Given the description of an element on the screen output the (x, y) to click on. 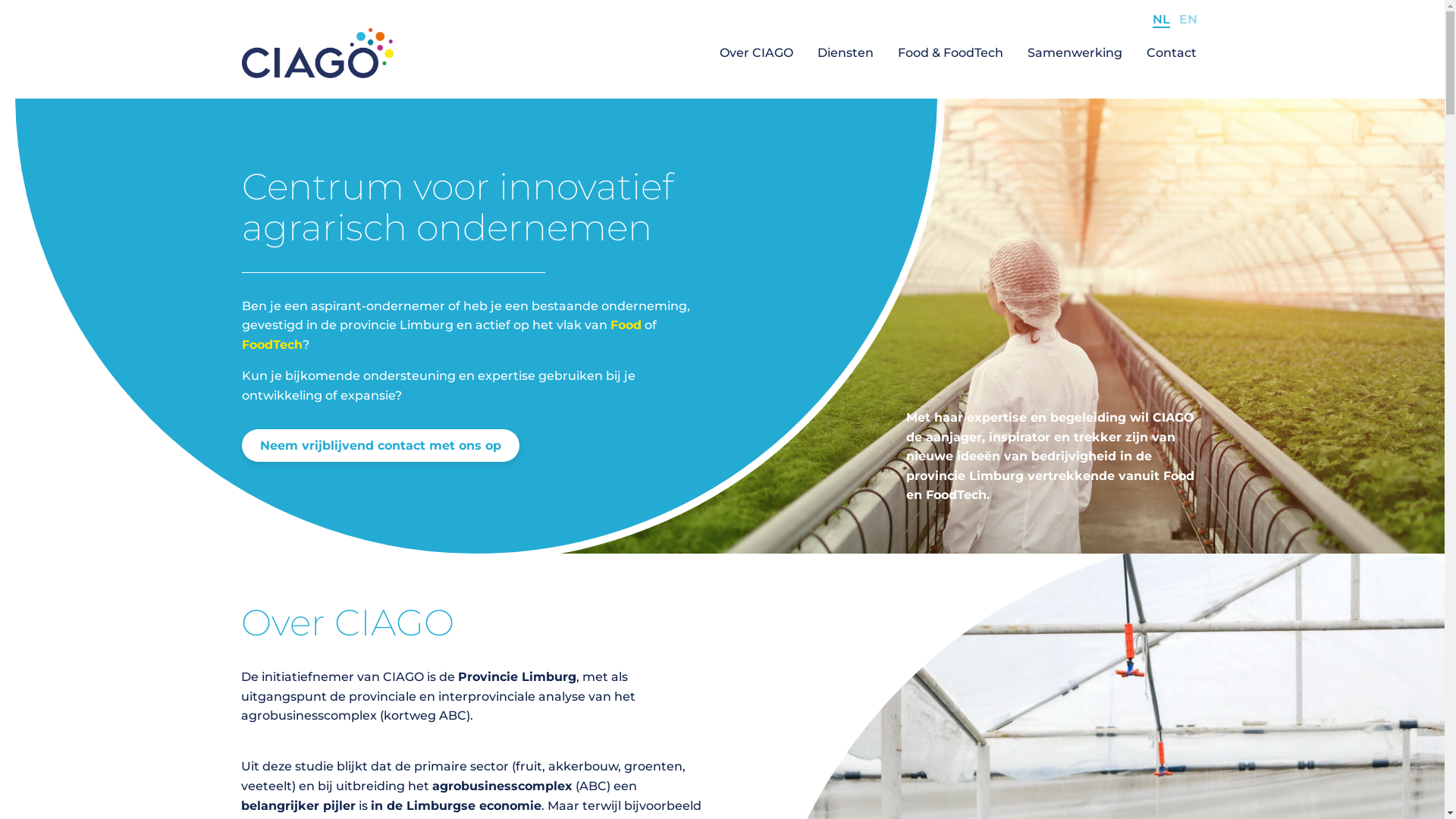
Samenwerking Element type: text (1074, 52)
Contact Element type: text (1171, 52)
Over CIAGO Element type: text (756, 52)
Diensten Element type: text (845, 52)
Neem vrijblijvend contact met ons op Element type: text (379, 445)
Food & FoodTech Element type: text (950, 52)
NL Element type: text (1161, 20)
EN Element type: text (1187, 19)
Centrum voor innovatief agrarisch ondernemen Element type: text (316, 53)
